Given the description of an element on the screen output the (x, y) to click on. 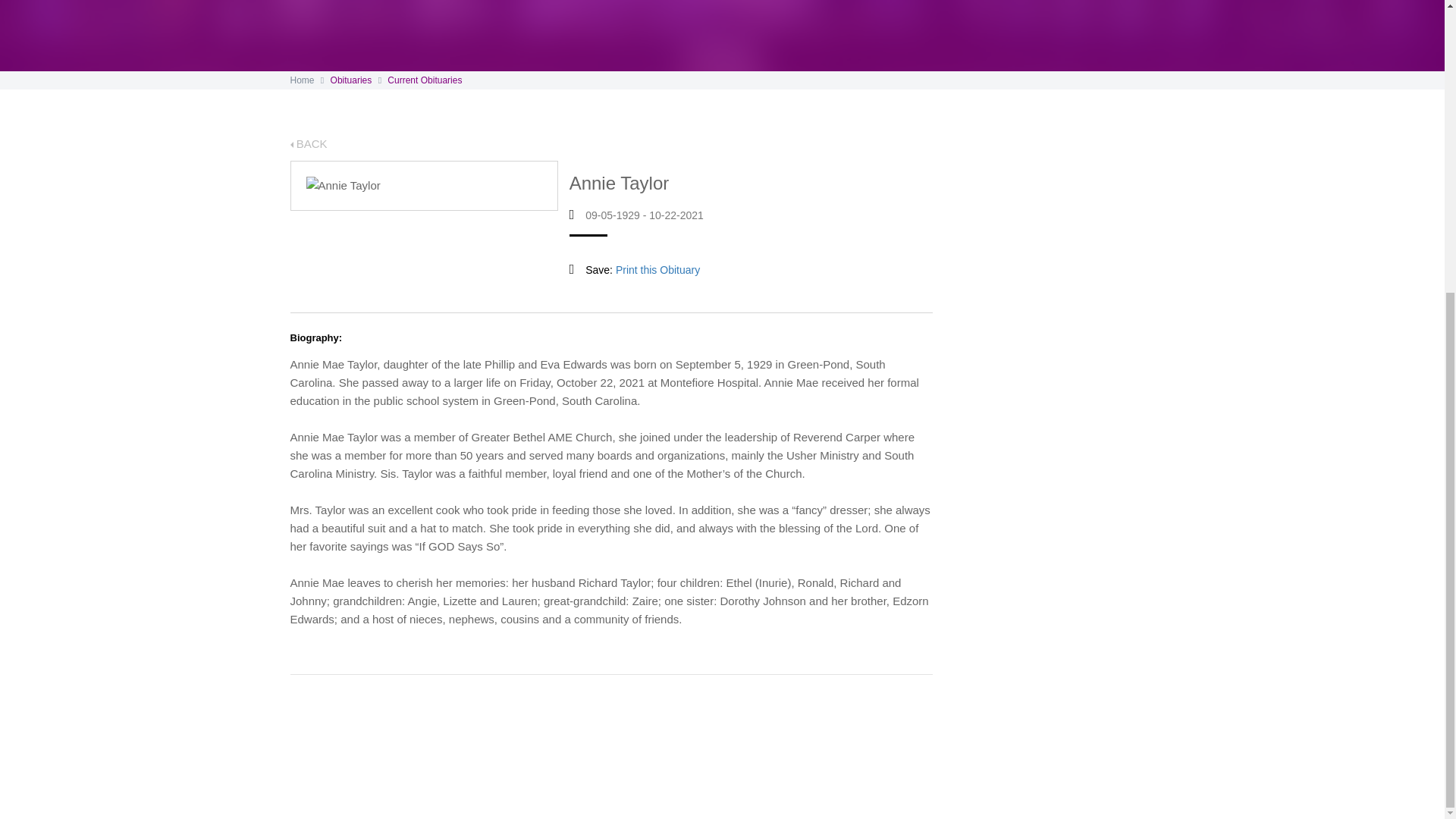
BACK (307, 143)
Print this Obituary (657, 269)
